Given the description of an element on the screen output the (x, y) to click on. 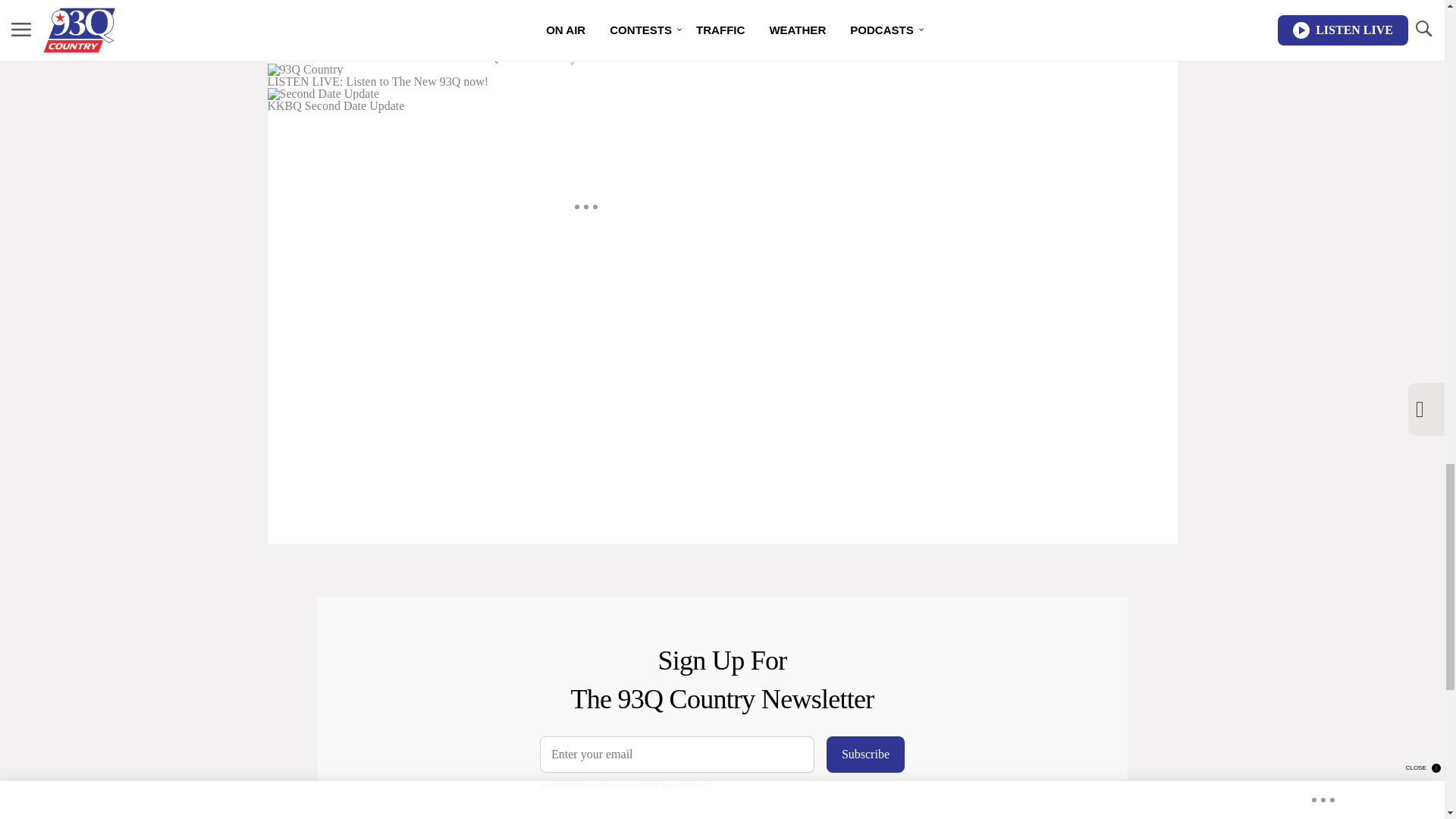
LISTEN LIVE: Listen to The New 93Q now! (585, 75)
Mandatory Texas Vehicle Safety Inspections to End in 2025 (585, 27)
privay policy (686, 784)
Subscribe (865, 754)
KKBQ Second Date Update (585, 99)
